Given the description of an element on the screen output the (x, y) to click on. 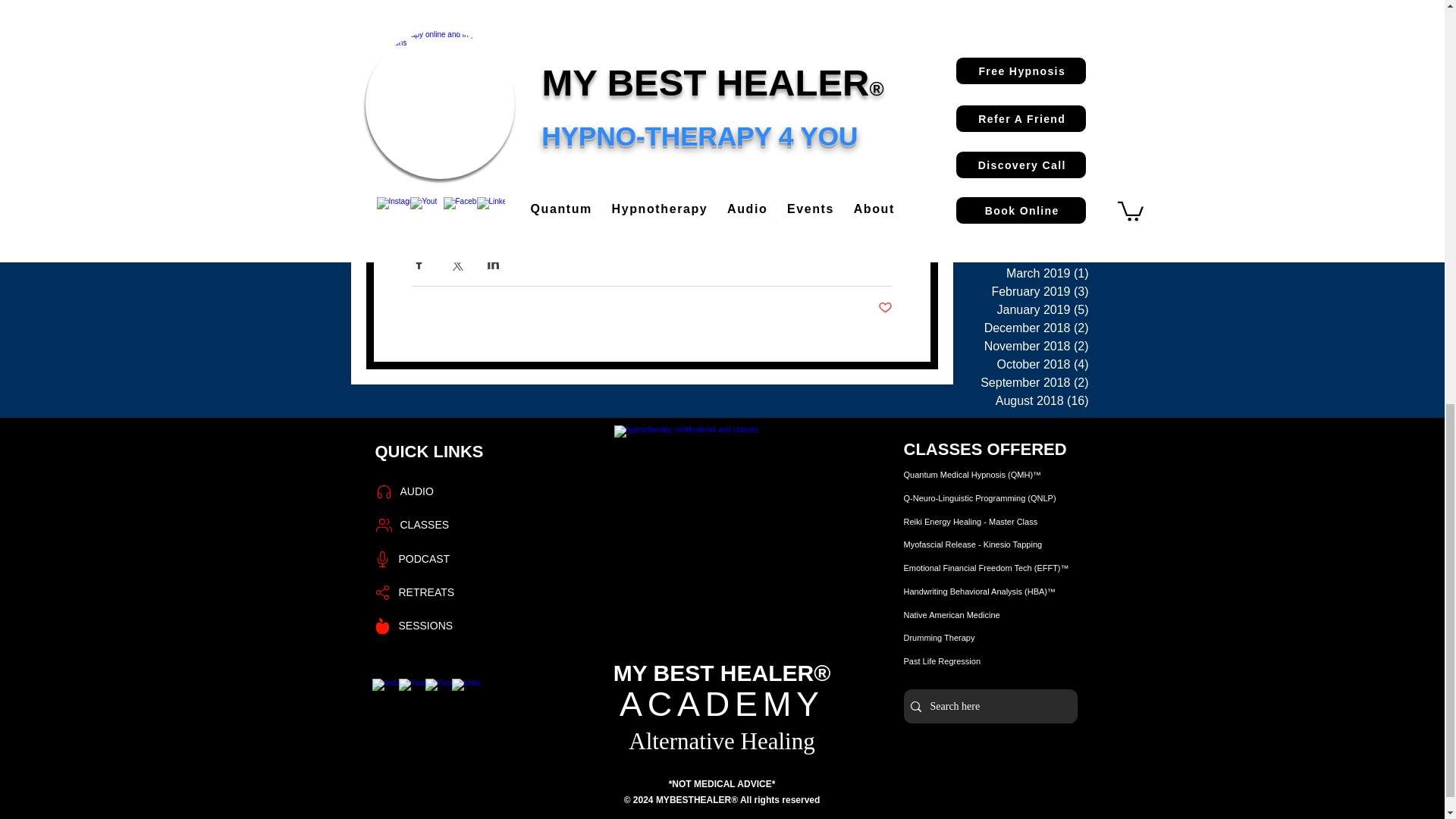
Ericksonian Hypnosis (521, 187)
Thoughts (820, 210)
Therapist near me (741, 210)
Hypnosis (434, 187)
Hypnotherapy and Reiki Certifications (721, 534)
Post not marked as liked (884, 308)
headache (704, 187)
mind (597, 187)
meditation (644, 187)
